Given the description of an element on the screen output the (x, y) to click on. 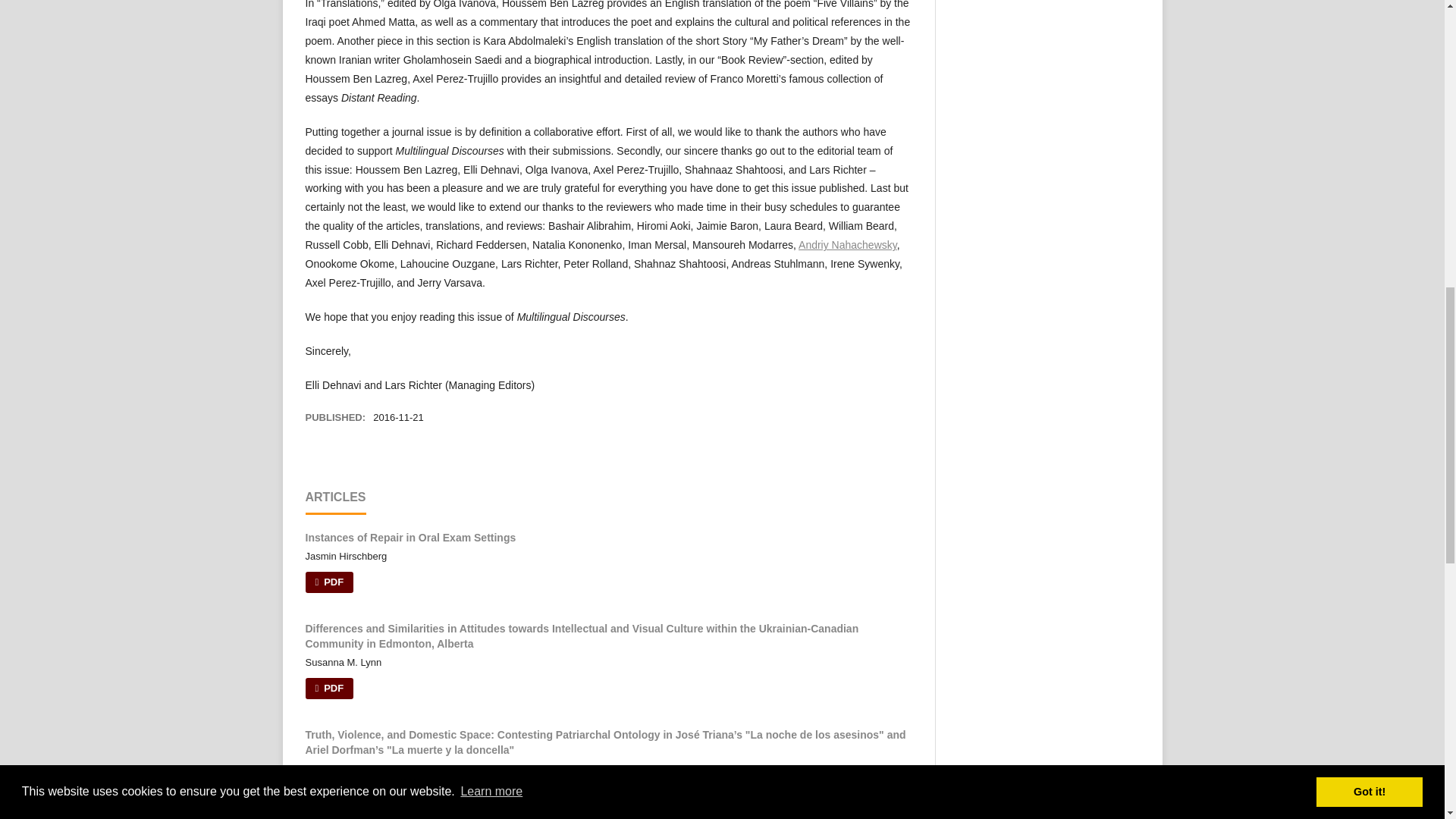
PDF (328, 794)
PDF (328, 581)
Andriy Nahachewsky (846, 244)
PDF (328, 688)
Instances of Repair in Oral Exam Settings (409, 537)
